Given the description of an element on the screen output the (x, y) to click on. 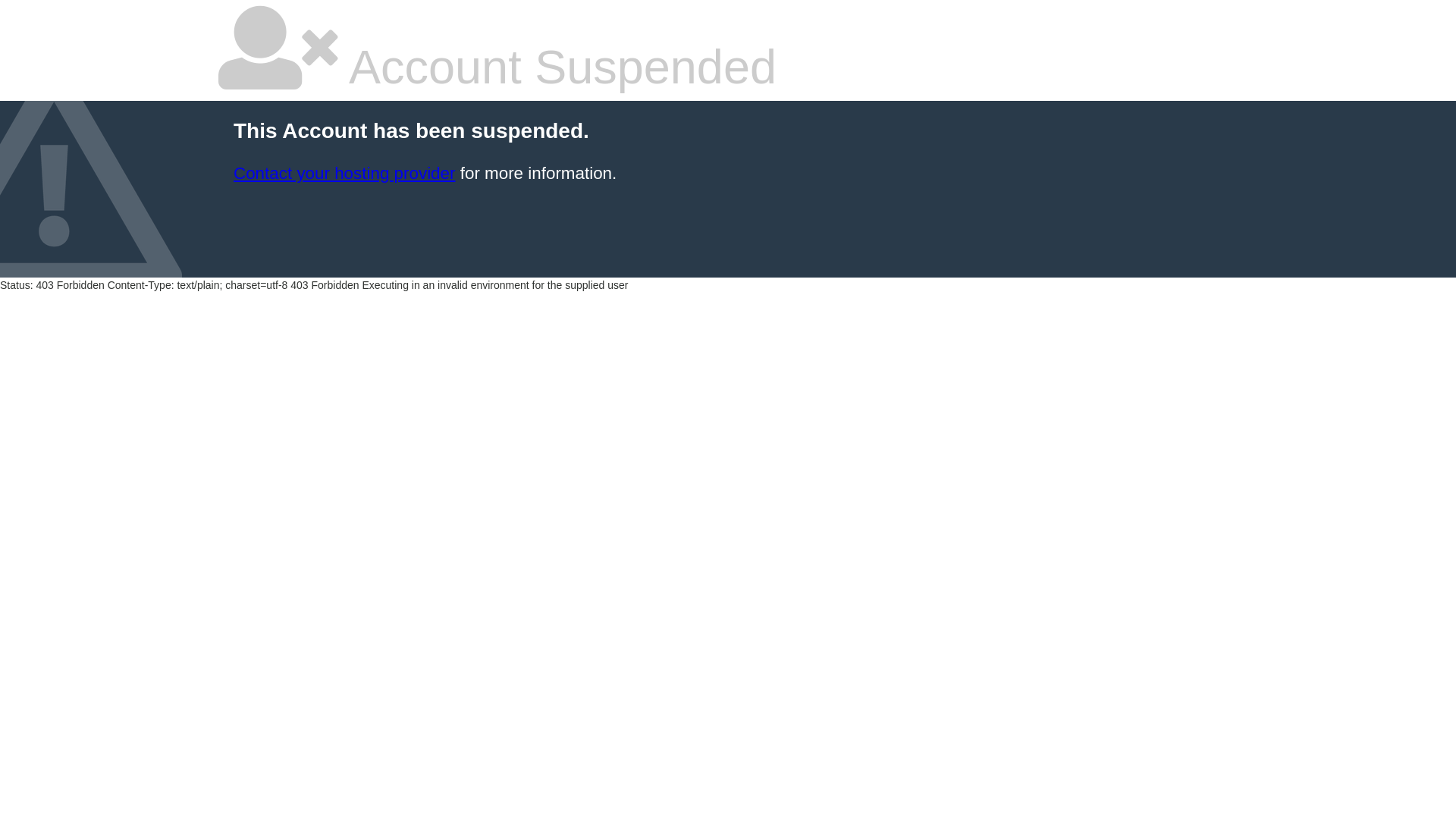
Contact your hosting provider Element type: text (344, 172)
